Given the description of an element on the screen output the (x, y) to click on. 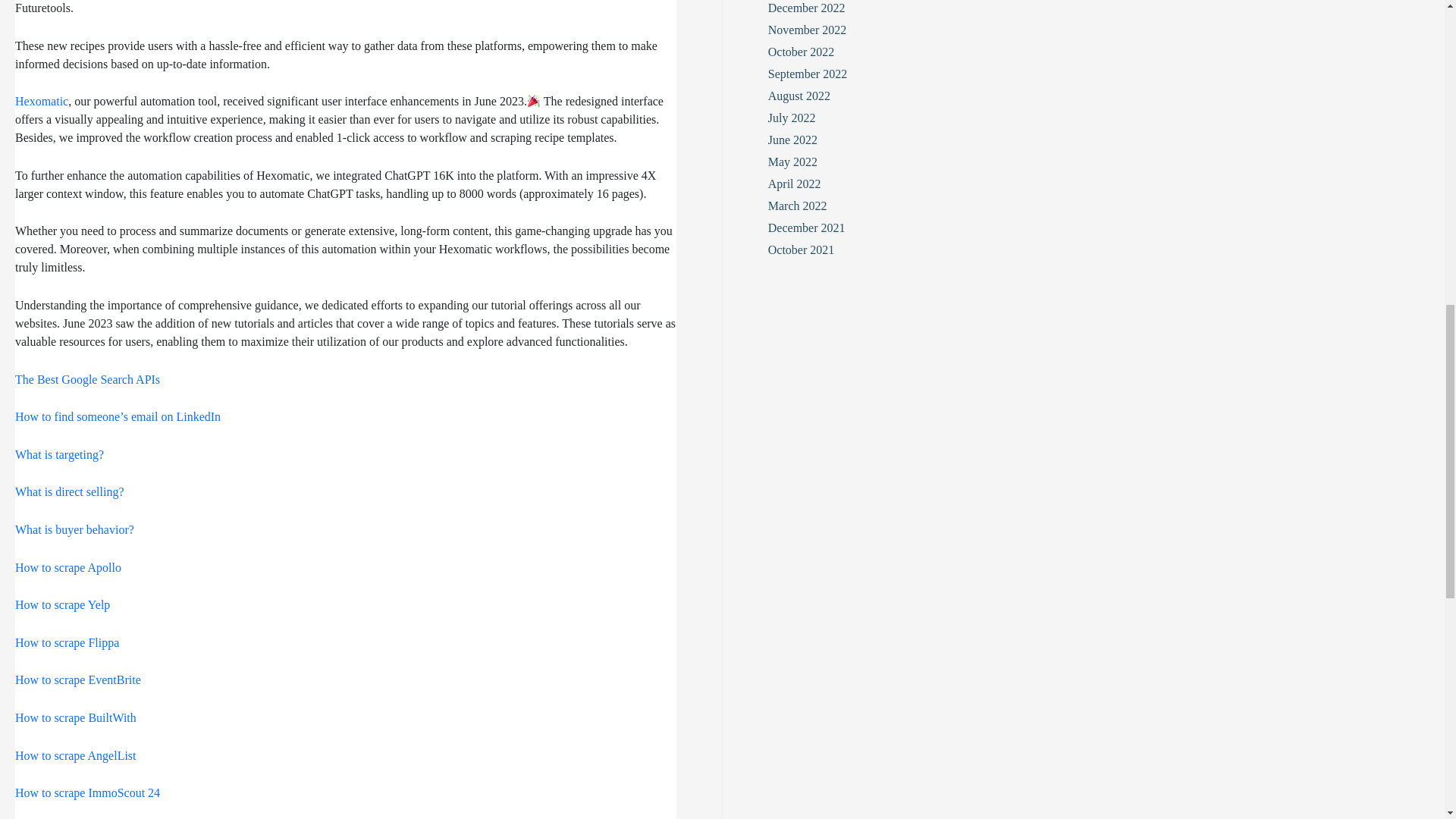
How to scrape EventBrite (77, 682)
How to scrape Flippa (66, 644)
Hexom (32, 102)
What is buyer behavior? (73, 531)
How to scrape ImmoScout 24 (87, 794)
How to scrape BuiltWith (75, 719)
How to scrape Apollo (67, 569)
The Best Google Search APIs (87, 381)
How to scrape AngelList (75, 757)
What is direct selling? (68, 494)
How to scrape Yelp (62, 606)
What is targeting? (58, 456)
tic (62, 102)
